Given the description of an element on the screen output the (x, y) to click on. 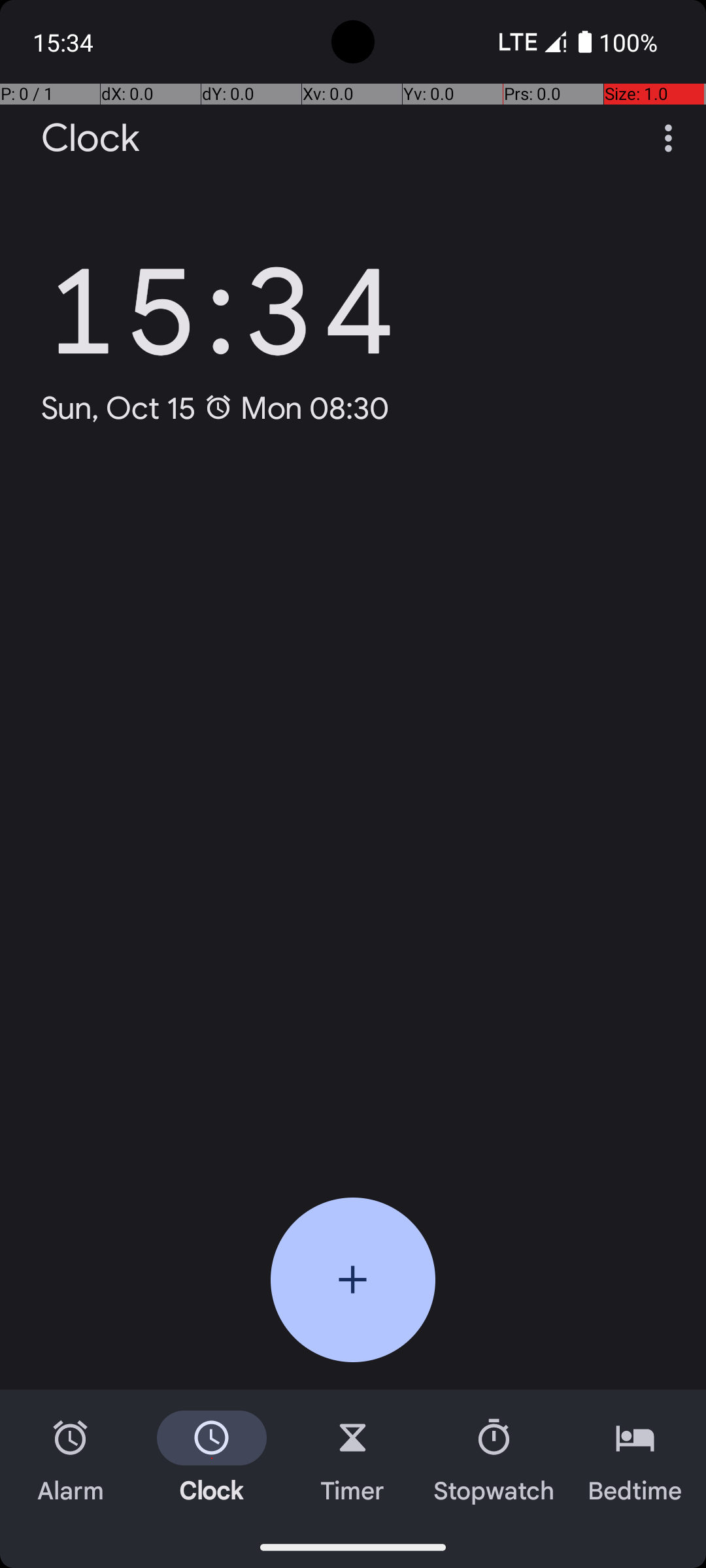
Sun, Oct 15 A Mon 08:30 Element type: android.widget.TextView (215, 407)
